Given the description of an element on the screen output the (x, y) to click on. 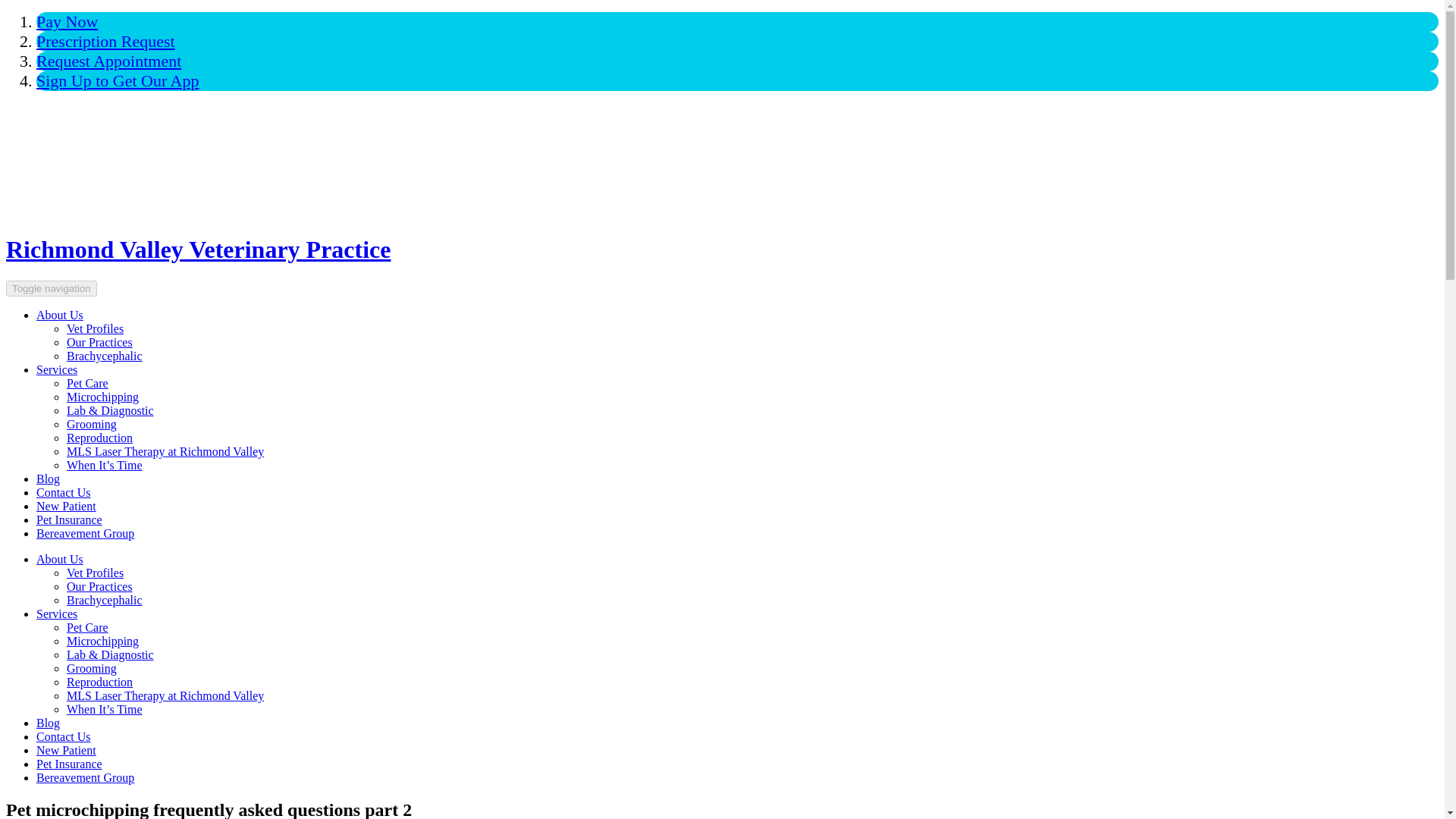
Contact Us (63, 492)
MLS Laser Therapy at Richmond Valley (164, 695)
Toggle navigation (51, 288)
Blog (47, 722)
Pay Now (66, 21)
Request Appointment (108, 60)
Brachycephalic (104, 355)
About Us (59, 314)
Services (56, 613)
Bereavement Group (84, 533)
